Given the description of an element on the screen output the (x, y) to click on. 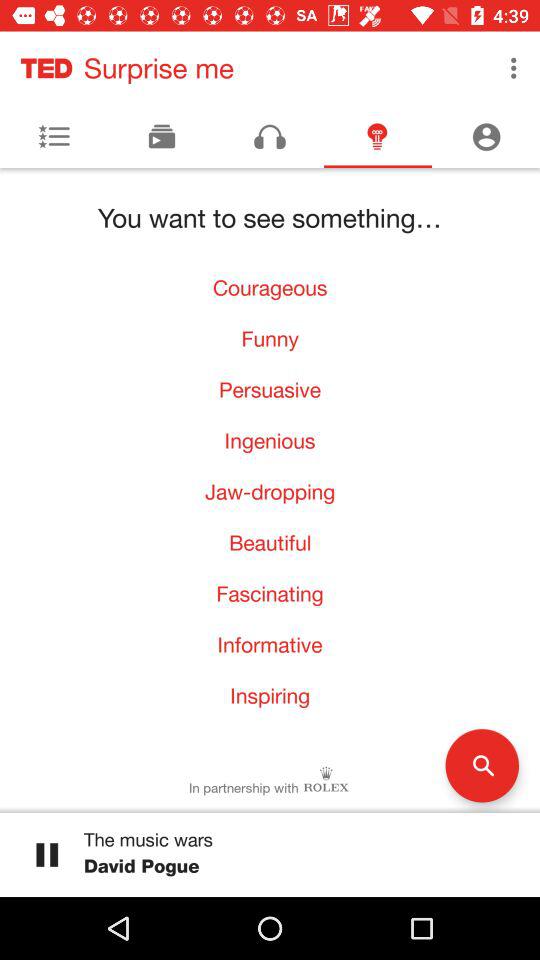
tap the inspiring item (270, 695)
